Given the description of an element on the screen output the (x, y) to click on. 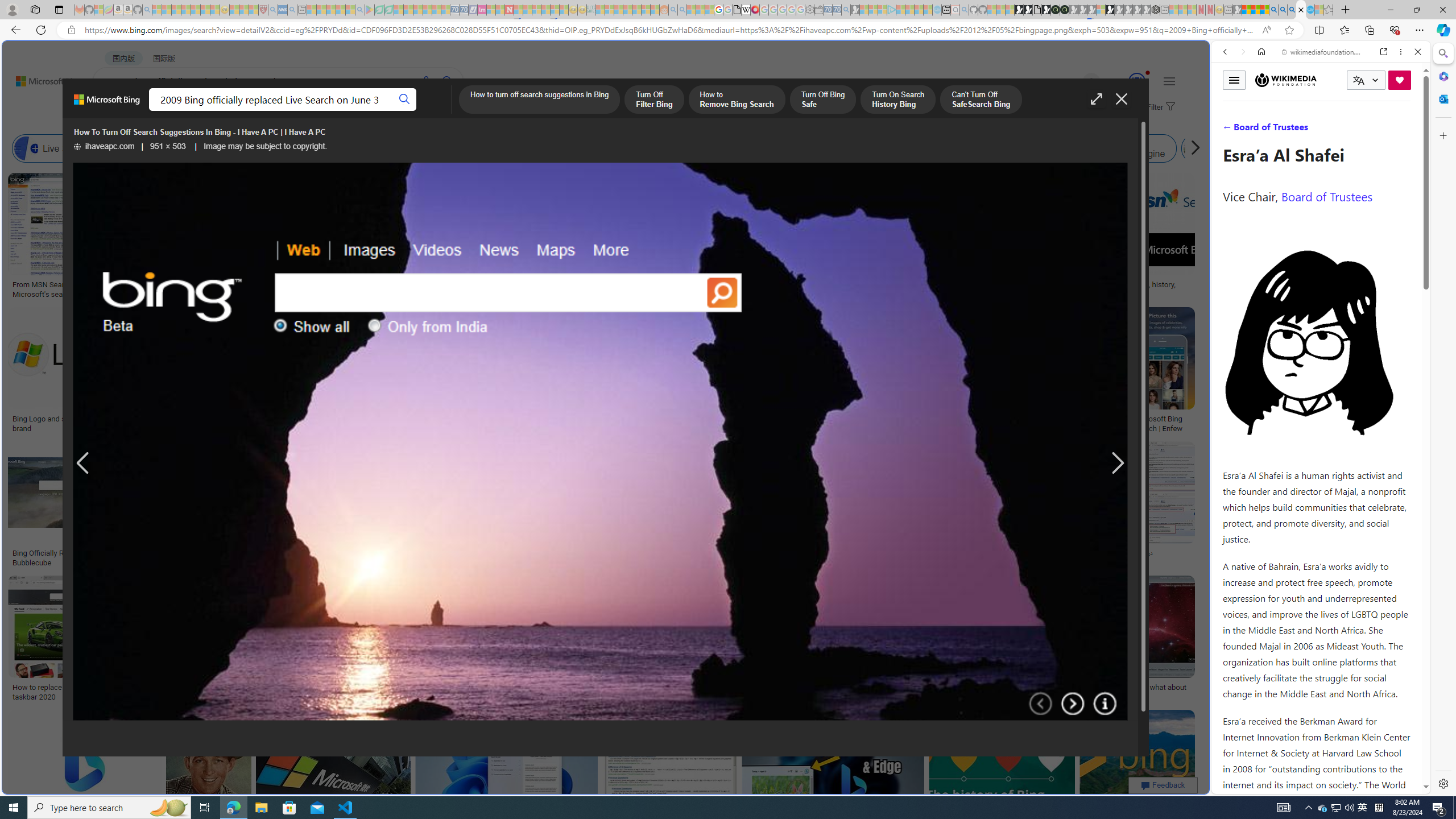
MediaWiki (754, 9)
MSN Homepage Bing Search Engine (815, 148)
Bing - SEOLend (219, 552)
MY BING (156, 111)
ihaveapc.com (104, 146)
